Given the description of an element on the screen output the (x, y) to click on. 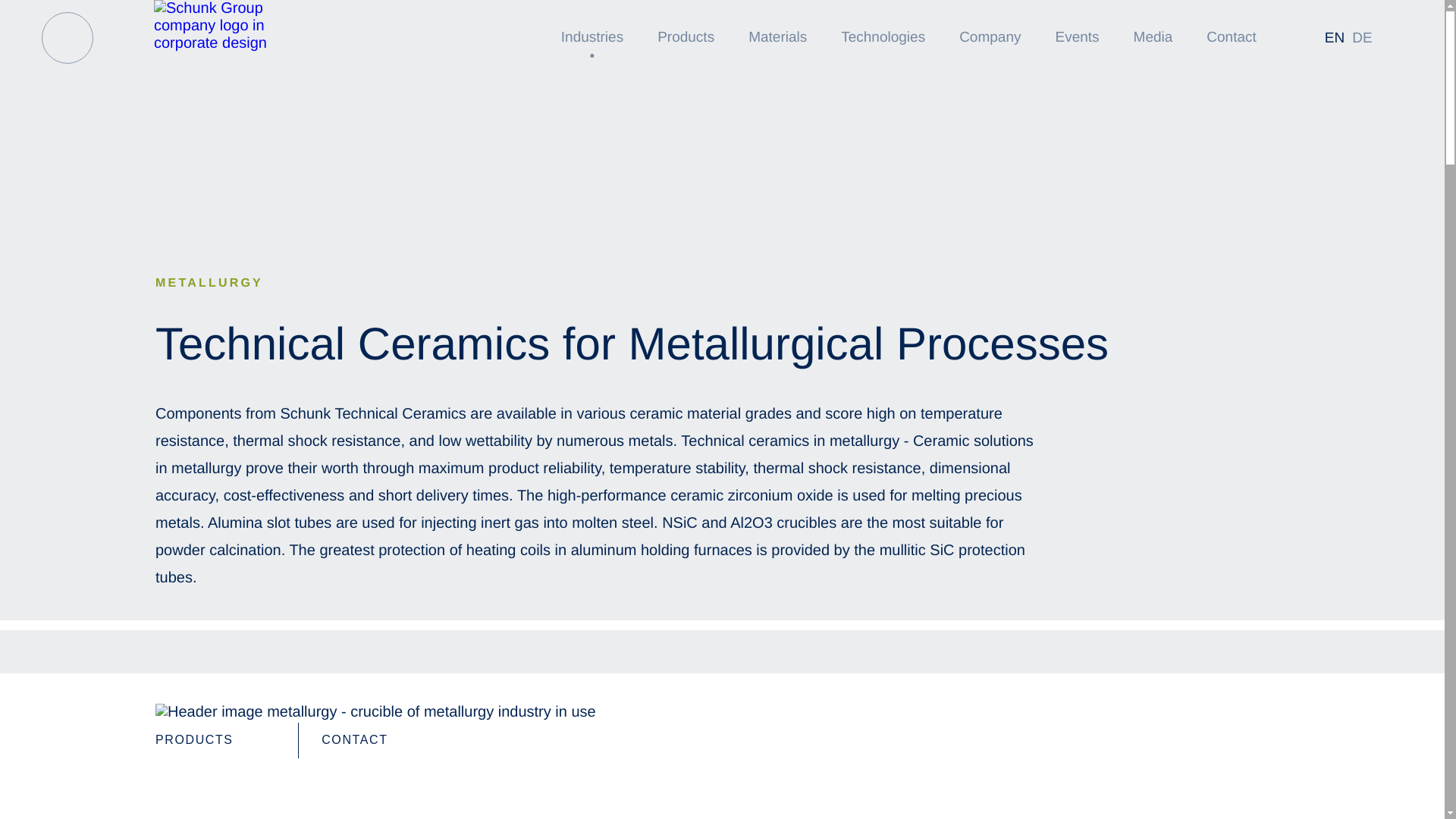
Media (1152, 38)
Contact (375, 740)
Contact (1230, 38)
PRODUCTS (215, 740)
de (1361, 37)
CONTACT (375, 740)
Logo Schunk Group (232, 26)
Company (990, 38)
Events (1076, 38)
DE (1361, 37)
